Given the description of an element on the screen output the (x, y) to click on. 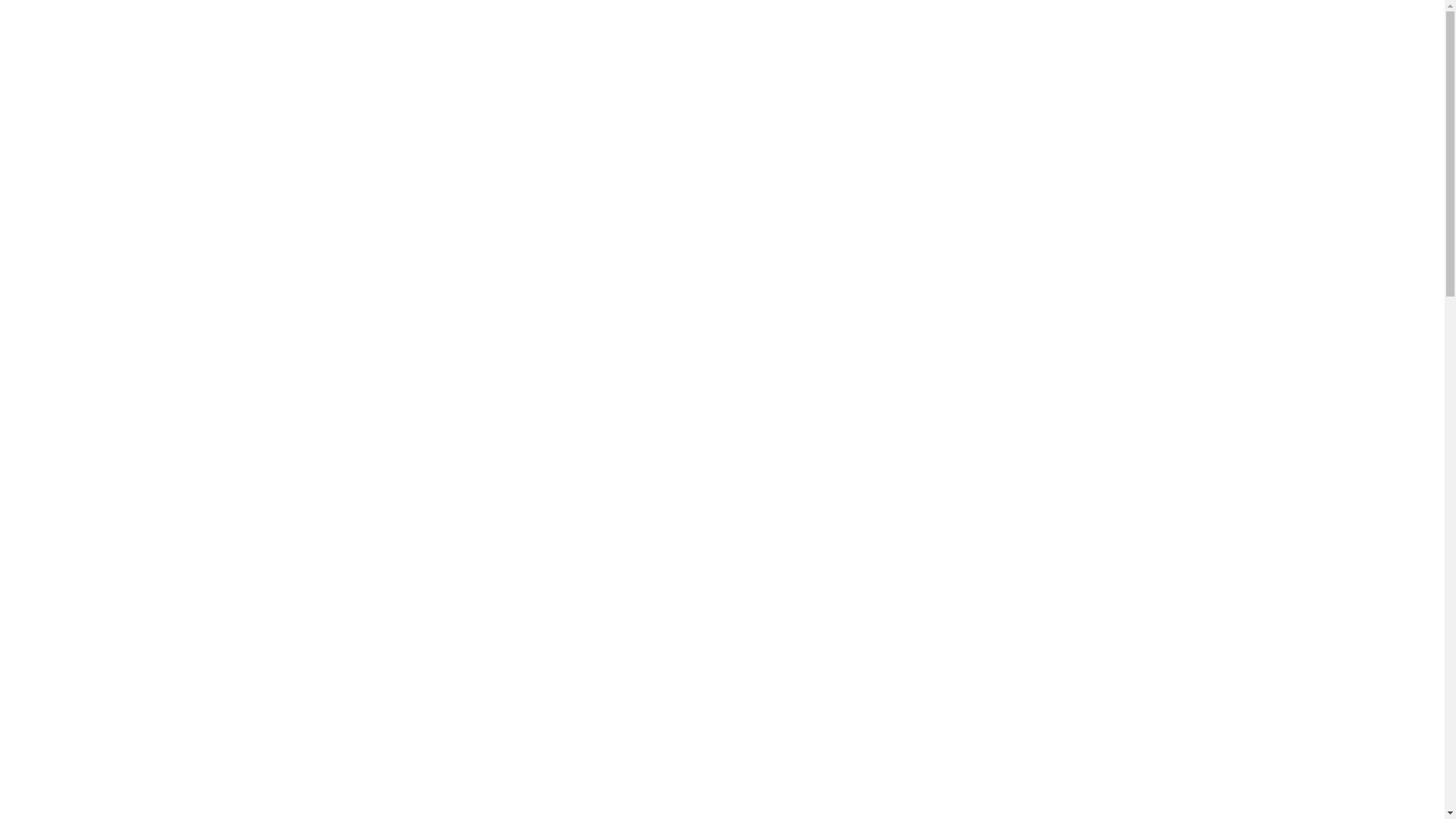
ARCHITECTENBEZOEKEN Element type: text (465, 70)
CONTACT Element type: text (465, 129)
REFERENTIES Element type: text (466, 110)
VOORDELEN Element type: text (466, 89)
HOME Element type: text (465, 49)
